Given the description of an element on the screen output the (x, y) to click on. 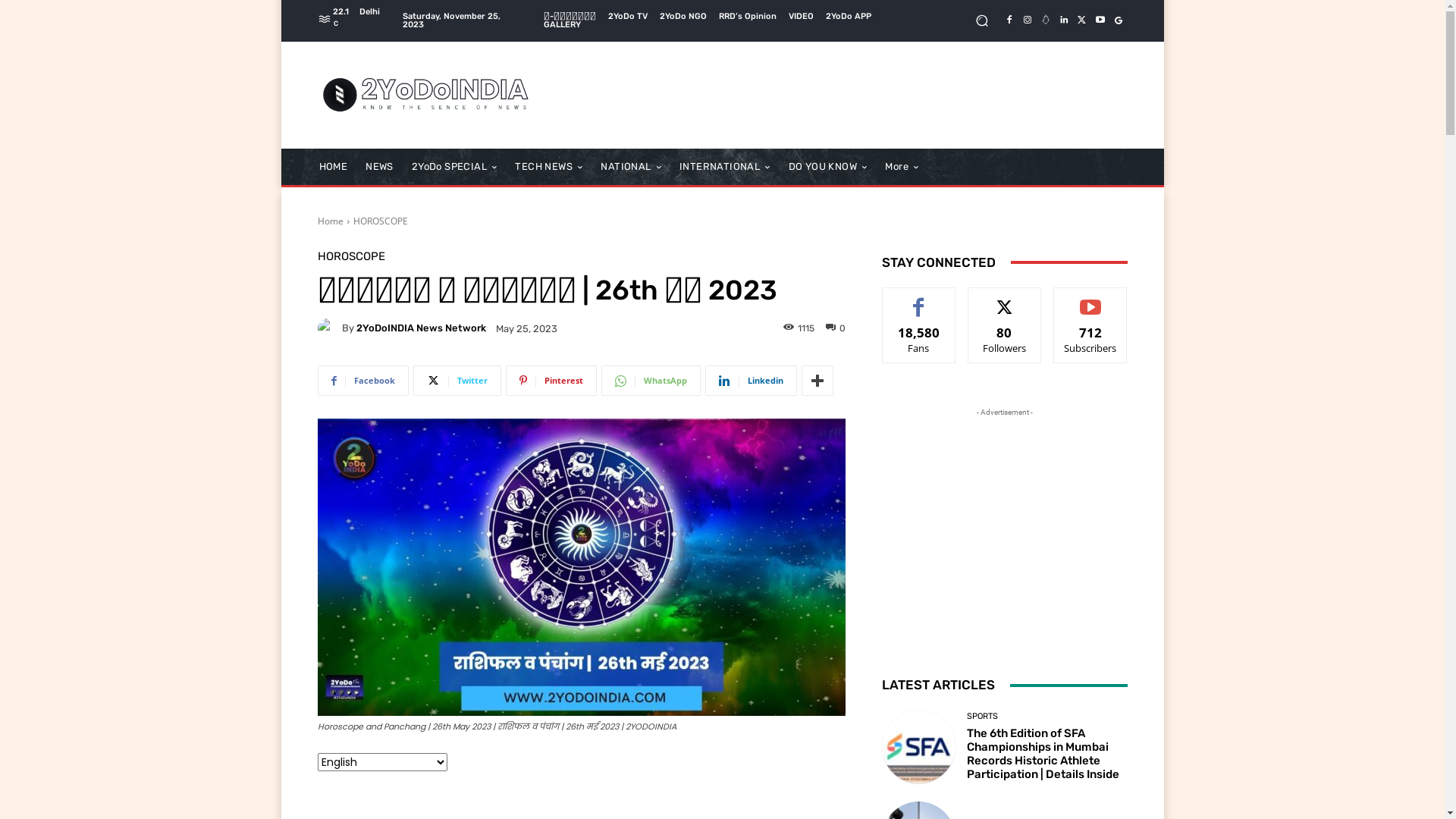
HOROSCOPE Element type: text (350, 256)
HOME Element type: text (332, 166)
NATIONAL Element type: text (630, 166)
Instagram Element type: hover (1026, 20)
GALLERY Element type: text (561, 24)
Home Element type: text (329, 220)
Advertisement Element type: hover (1003, 514)
2YoDoINDIA News Network Element type: text (421, 327)
Google News Element type: hover (1117, 20)
SPORTS Element type: text (981, 716)
INTERNATIONAL Element type: text (724, 166)
Know The Sence of News Element type: hover (425, 94)
Youtube Element type: hover (1099, 20)
Facebook Element type: hover (1008, 20)
Horoscope and Panchang 26th May 2023 Element type: hover (580, 566)
WhatsApp Element type: text (649, 380)
0 Element type: text (834, 327)
Linkedin Element type: hover (1063, 20)
DO YOU KNOW Element type: text (827, 166)
Twitter Element type: text (456, 380)
TECH NEWS Element type: text (548, 166)
HOROSCOPE Element type: text (380, 220)
Linkedin Element type: text (751, 380)
Advertisement Element type: hover (847, 94)
Facebook Element type: text (361, 380)
Pinterest Element type: text (550, 380)
2YoDo SPECIAL Element type: text (454, 166)
2YoDo TV Element type: text (627, 16)
2YoDo APP Element type: text (848, 16)
2YoDo NGO Element type: text (682, 16)
Koo Element type: hover (1044, 20)
NEWS Element type: text (379, 166)
VIDEO Element type: text (800, 16)
2YoDoINDIA News Network Element type: hover (328, 328)
More Element type: hover (816, 380)
Twitter Element type: hover (1081, 20)
